Given the description of an element on the screen output the (x, y) to click on. 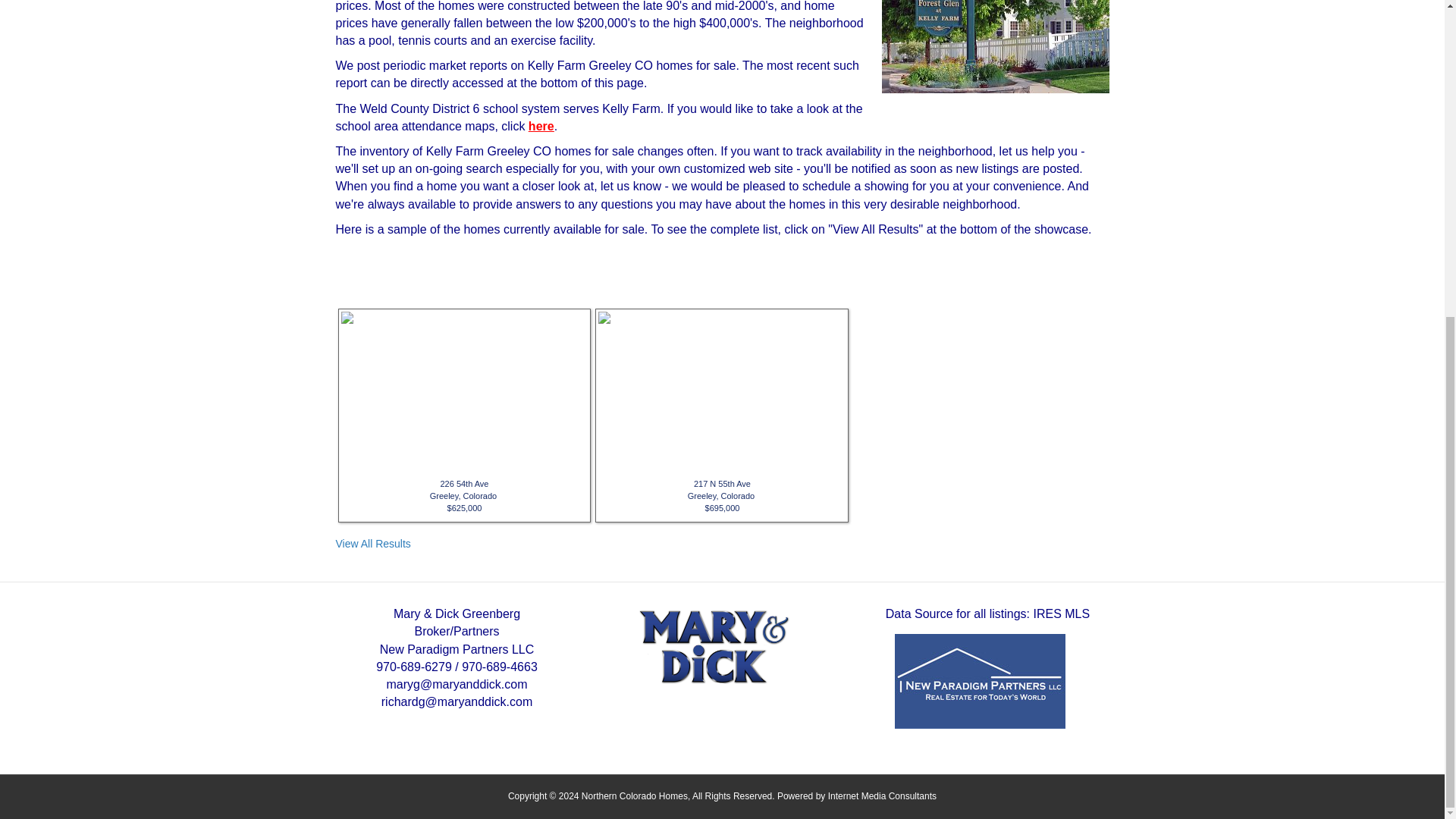
here (541, 125)
WordPress Web Design (882, 796)
View All Results (372, 543)
Internet Media Consultants (882, 796)
